Given the description of an element on the screen output the (x, y) to click on. 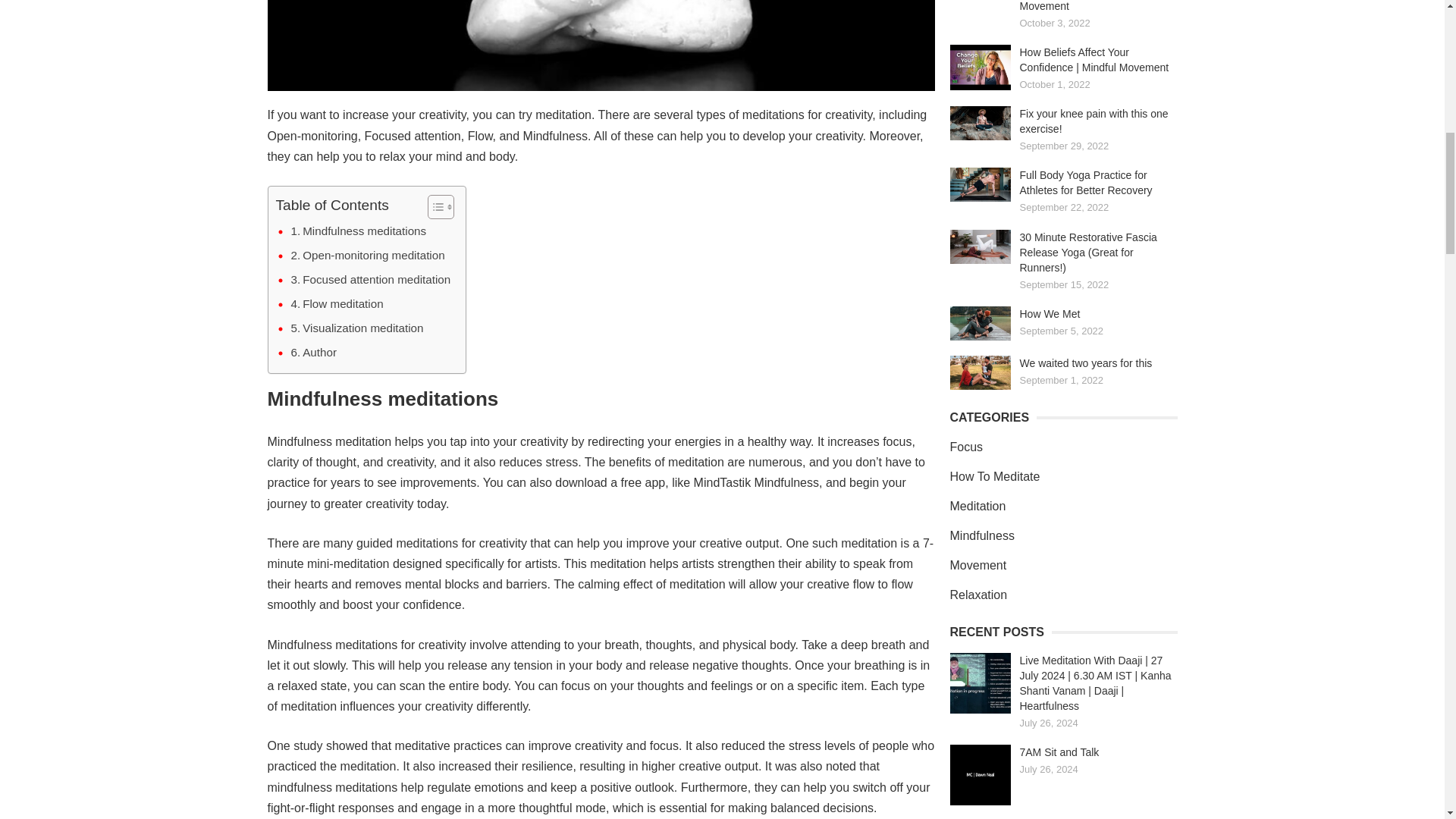
Focused attention meditation (371, 280)
Open-monitoring meditation (368, 255)
Mindfulness meditations (358, 230)
Visualization meditation (357, 328)
Author (313, 352)
Mindfulness meditations (358, 230)
Open-monitoring meditation (368, 255)
Flow meditation (337, 303)
